Given the description of an element on the screen output the (x, y) to click on. 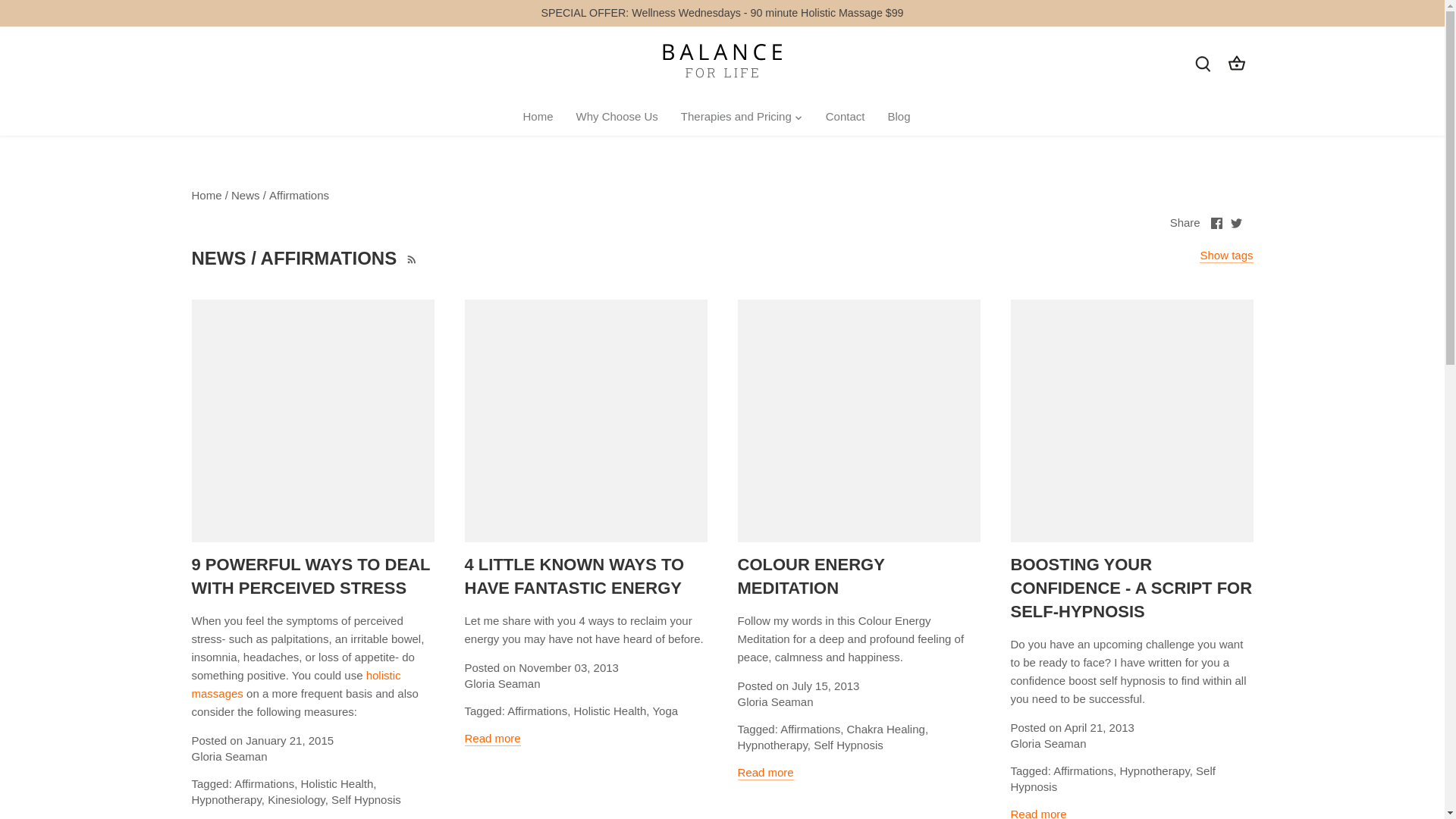
Twitter (1235, 223)
Show articles tagged Holistic Health (335, 783)
Home (543, 117)
Holistic Massage In Auckland (295, 684)
Therapies and Pricing (736, 117)
Show tags (1225, 256)
Blog (898, 117)
Affirmations (299, 195)
Why Choose Us (616, 117)
